Given the description of an element on the screen output the (x, y) to click on. 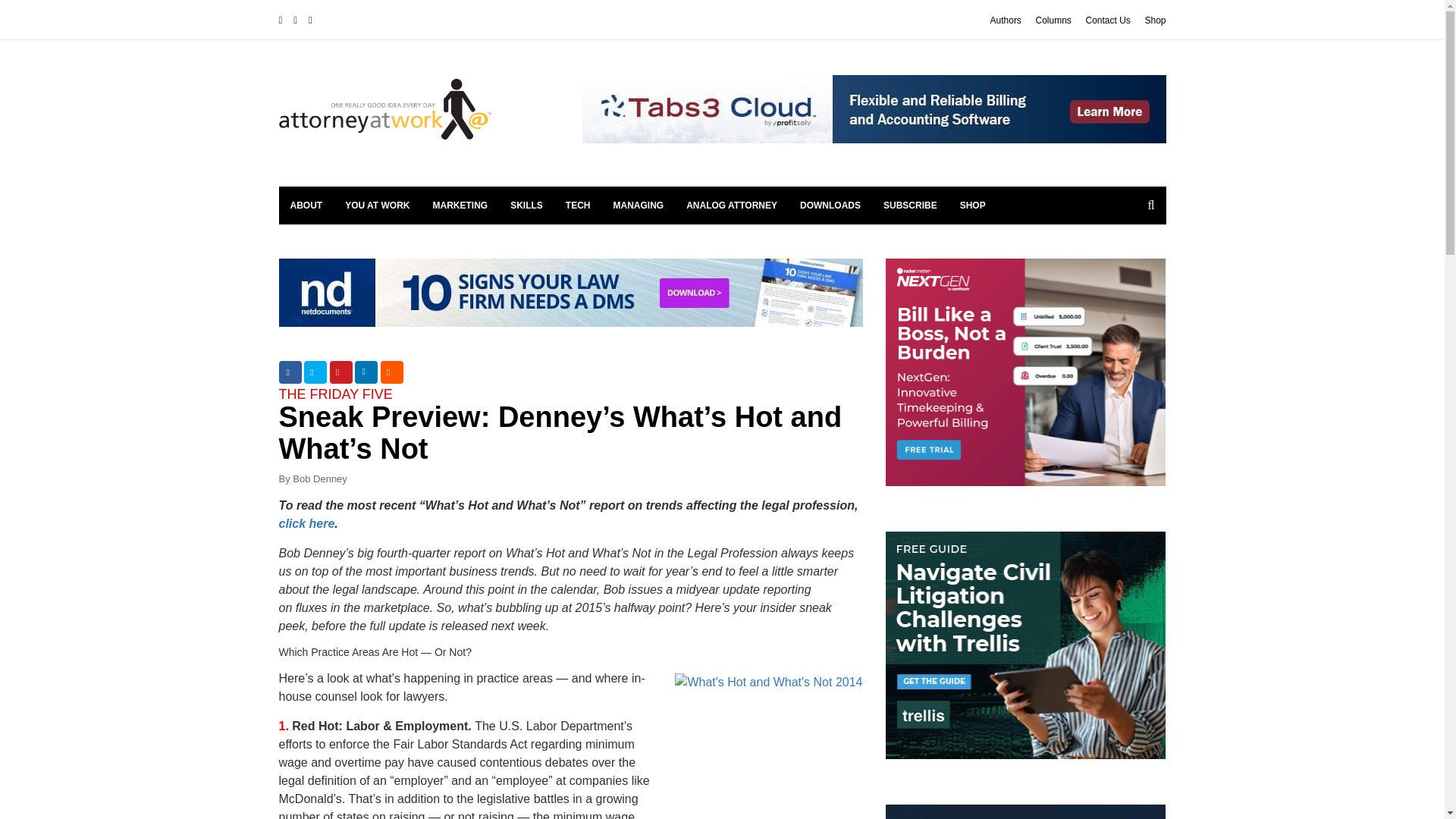
Columns (1053, 20)
MANAGING (638, 205)
Shop (1155, 20)
About (306, 205)
SKILLS (526, 205)
Marketing (460, 205)
You At Work (376, 205)
Contact Us (1106, 20)
ABOUT (306, 205)
YOU AT WORK (376, 205)
